Given the description of an element on the screen output the (x, y) to click on. 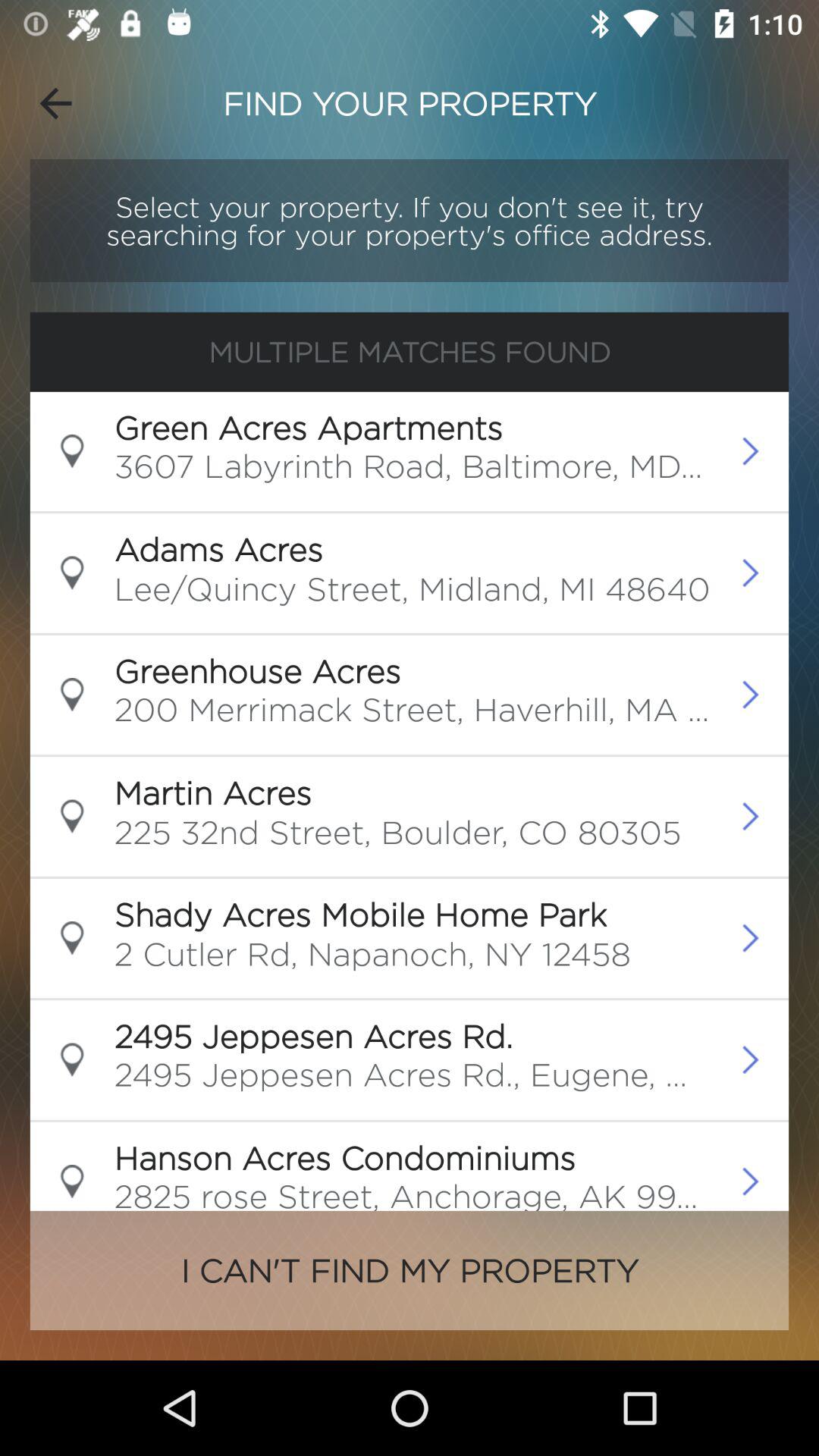
swipe until the multiple matches found item (409, 351)
